Given the description of an element on the screen output the (x, y) to click on. 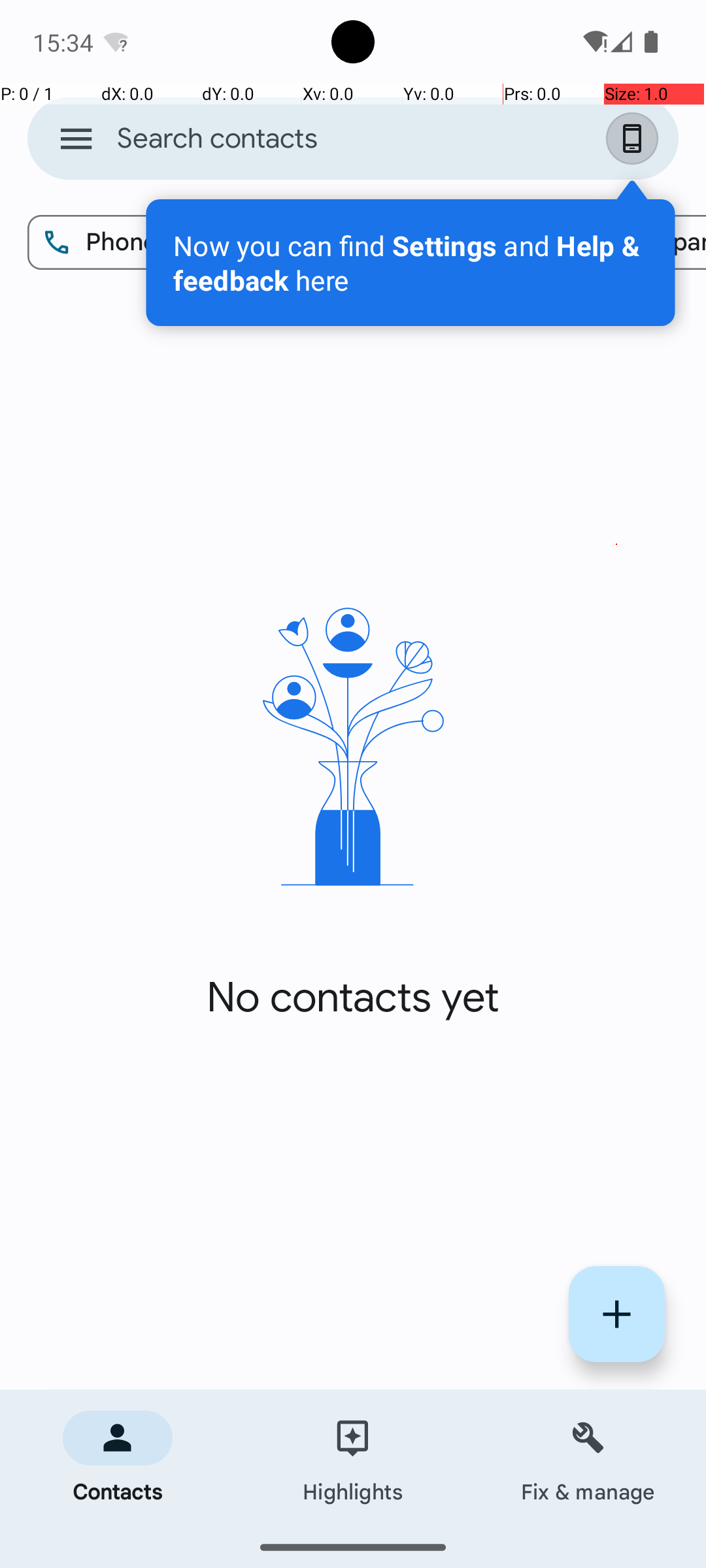
Now you can find Settings and Help & feedback here
Open account and settings. Element type: android.view.ViewGroup (409, 262)
